Given the description of an element on the screen output the (x, y) to click on. 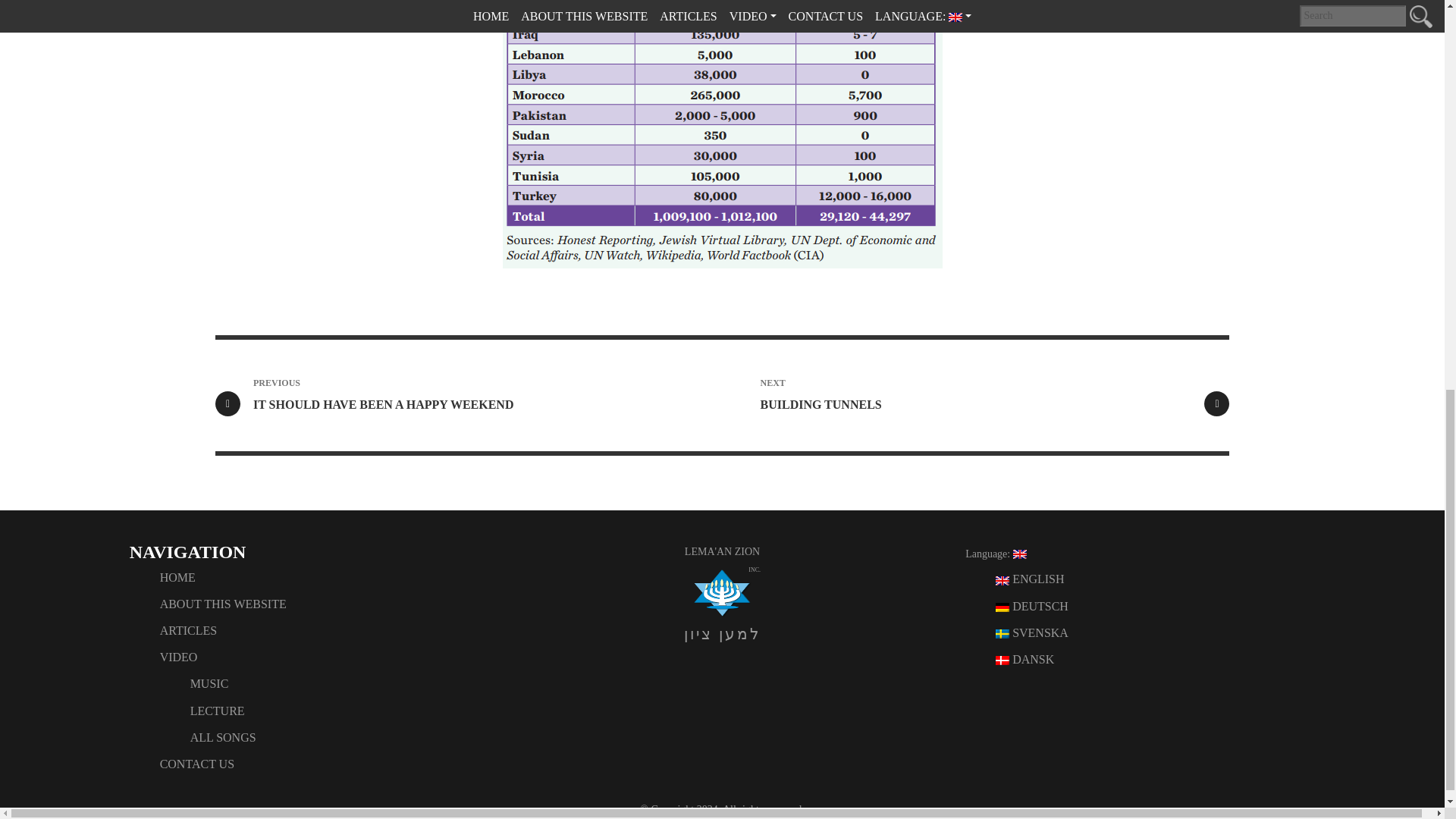
HOME (975, 394)
ARTICLES (177, 576)
Language:  (188, 630)
English (995, 553)
LECTURE (995, 553)
 ENGLISH (217, 710)
 SVENSKA (1029, 578)
ABOUT THIS WEBSITE (1031, 632)
 DANSK (223, 603)
